Given the description of an element on the screen output the (x, y) to click on. 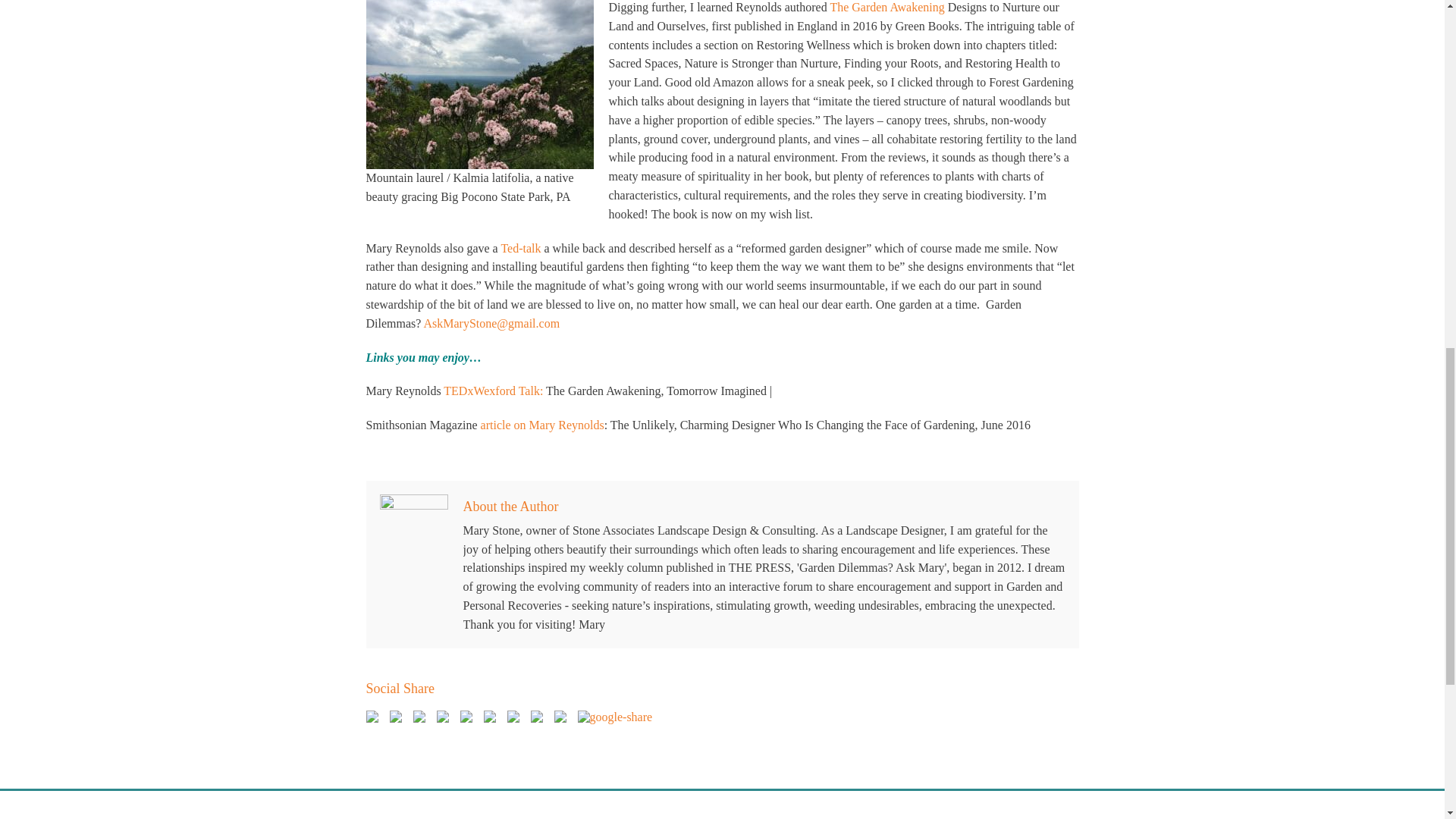
article on Mary Reynolds (542, 424)
TEDxWexford Talk: (493, 390)
The Garden Awakening (886, 6)
Ted-talk (520, 247)
